Given the description of an element on the screen output the (x, y) to click on. 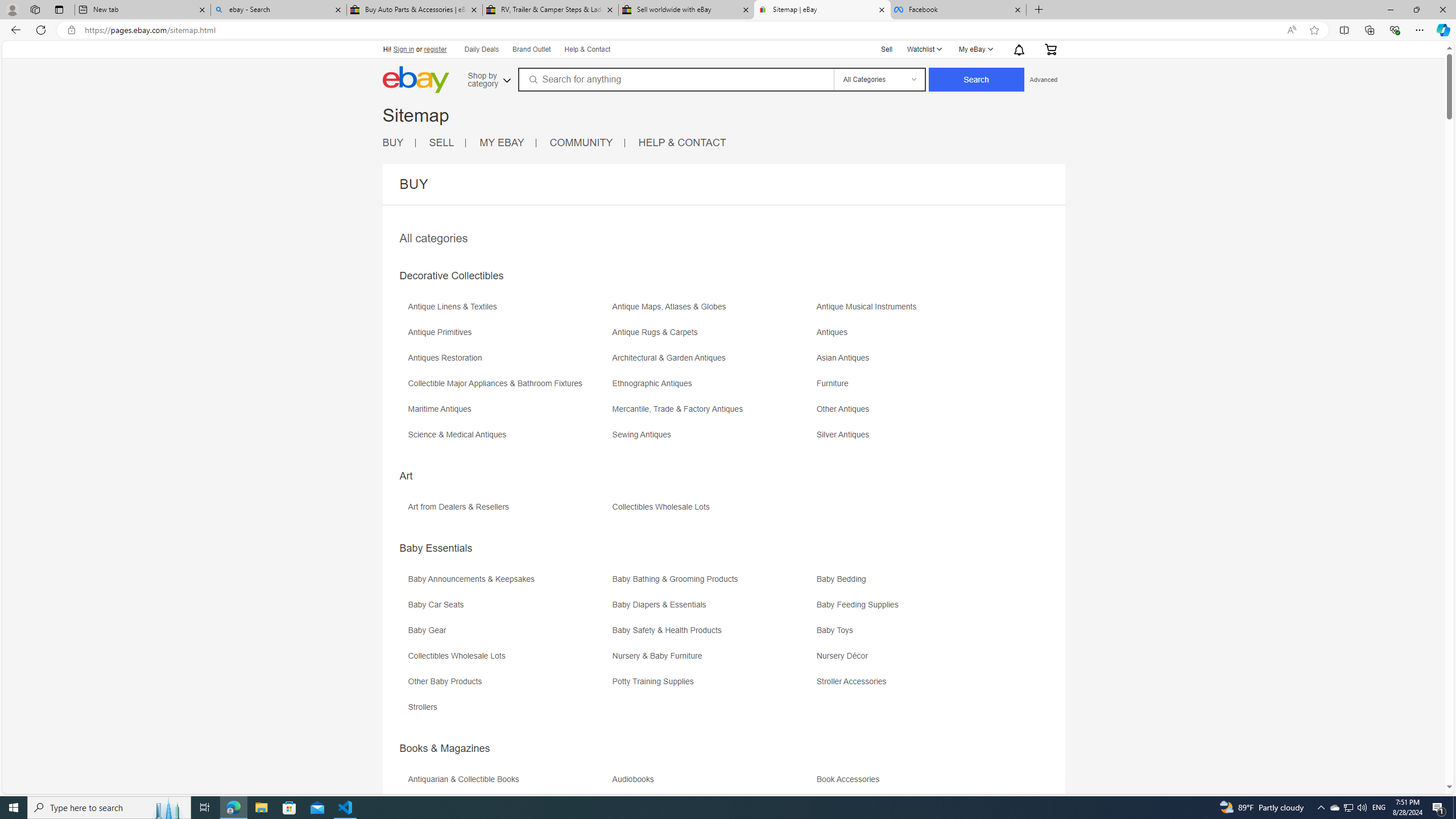
Sewing Antiques (712, 438)
WatchlistExpand Watch List (923, 49)
Other Antiques (917, 412)
Book Accessories (917, 783)
Mercantile, Trade & Factory Antiques (679, 408)
Antiquarian & Collectible Books (466, 779)
Search for anything (675, 79)
Mercantile, Trade & Factory Antiques (712, 412)
Silver Antiques (917, 438)
Antique Primitives (442, 332)
Other Baby Products (447, 681)
Collectible Major Appliances & Bathroom Fixtures (497, 383)
